Given the description of an element on the screen output the (x, y) to click on. 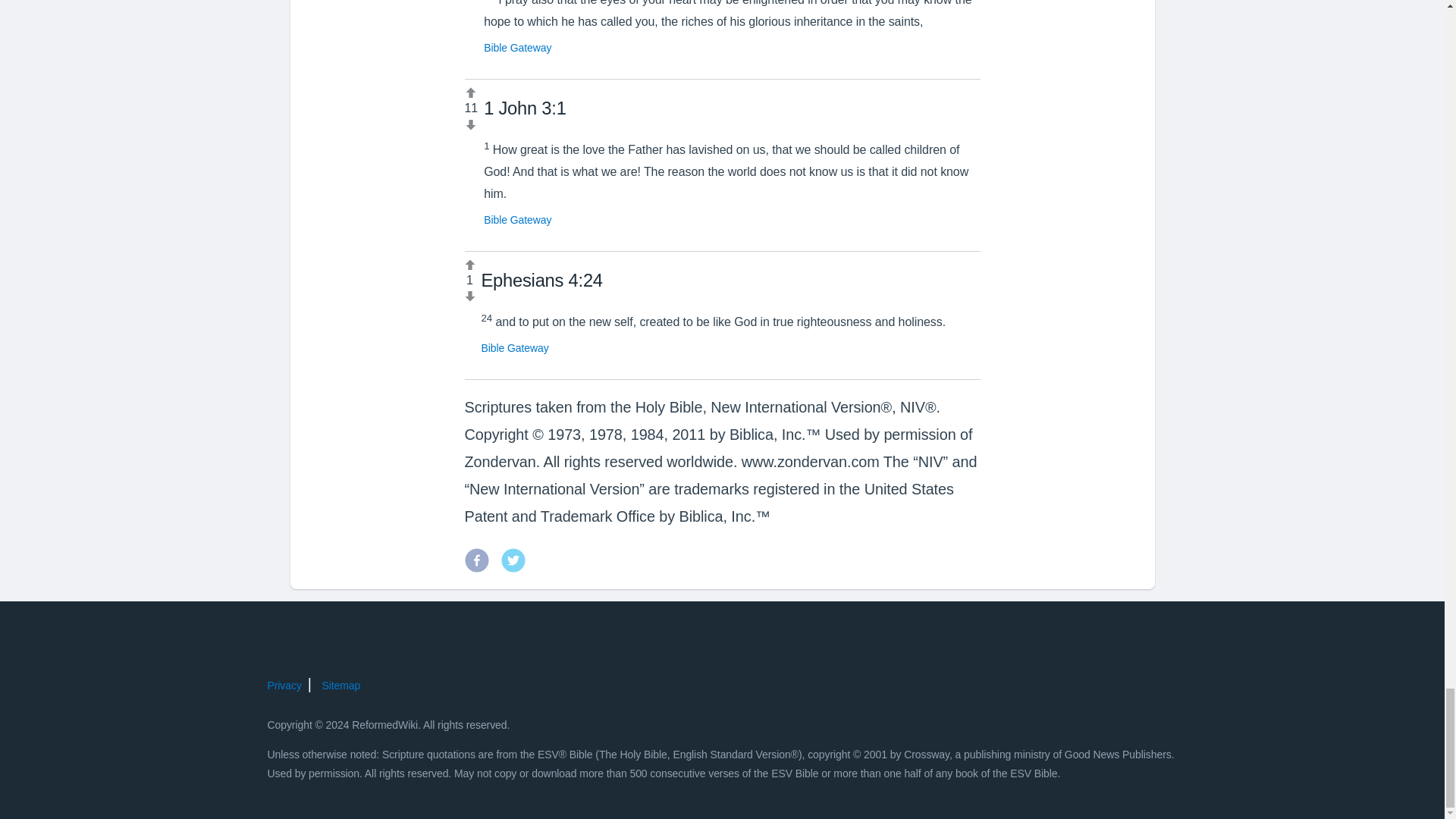
Bible Gateway (517, 219)
Bible Gateway (517, 47)
Bible Gateway (514, 347)
